Given the description of an element on the screen output the (x, y) to click on. 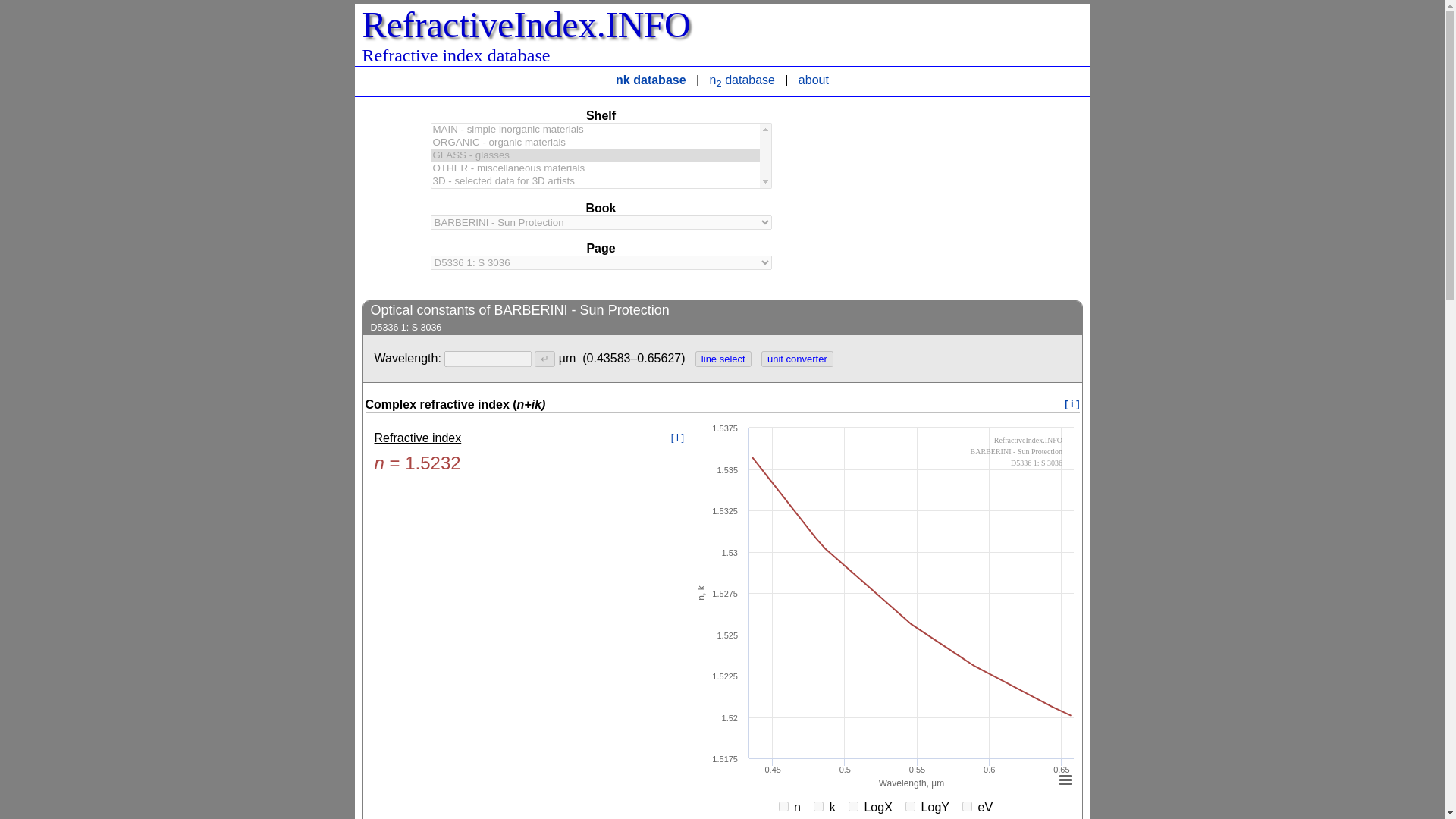
Read about refractive index in Wikipedia (677, 437)
nk database (650, 79)
RefractiveIndex.INFO (526, 24)
